Given the description of an element on the screen output the (x, y) to click on. 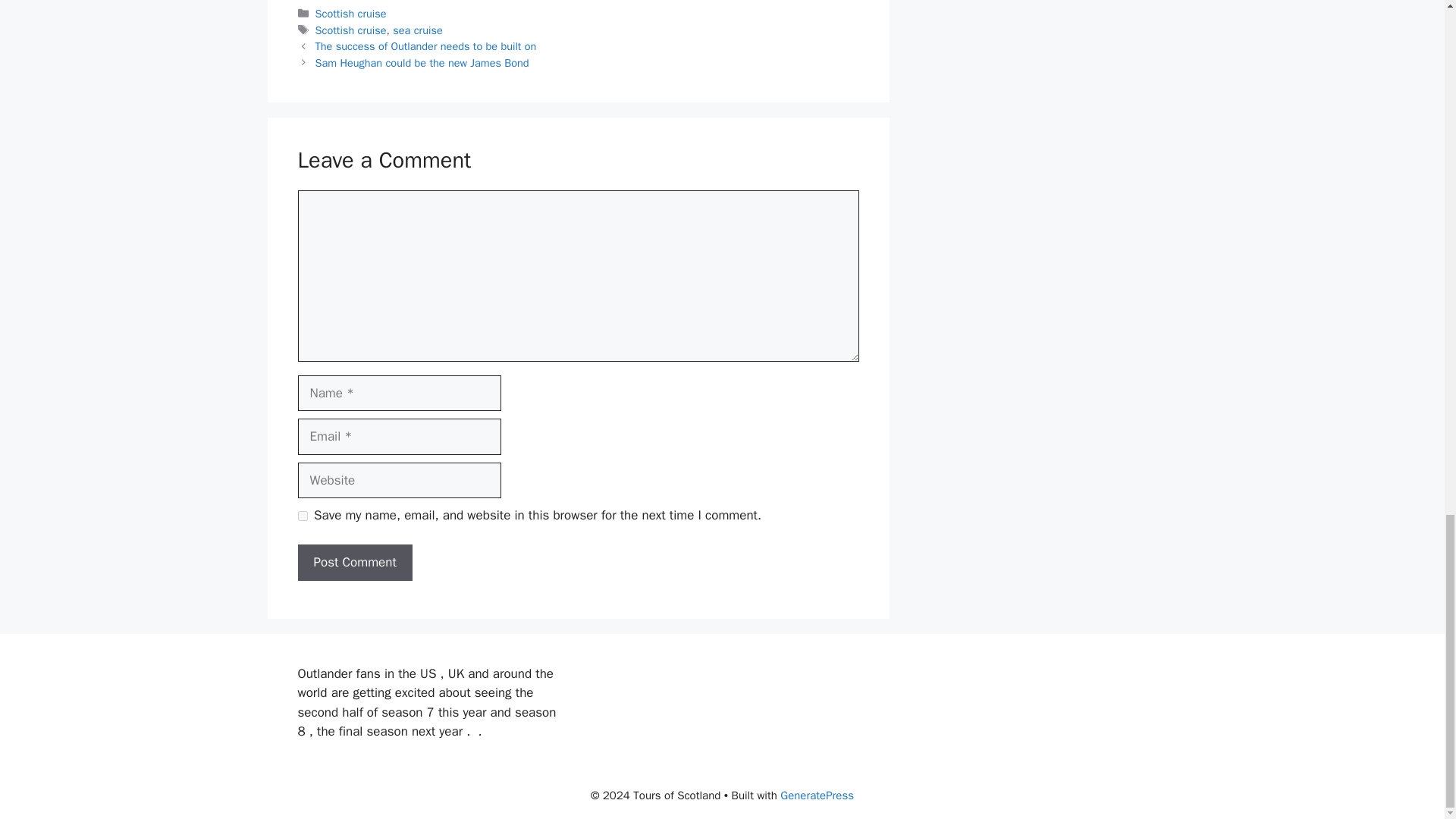
The success of Outlander needs to be built on (426, 46)
GeneratePress (816, 795)
Scottish cruise (351, 13)
yes (302, 515)
Sam Heughan could be the new James Bond (422, 62)
Post Comment (354, 562)
sea cruise (417, 29)
Scottish cruise (351, 29)
Post Comment (354, 562)
